Given the description of an element on the screen output the (x, y) to click on. 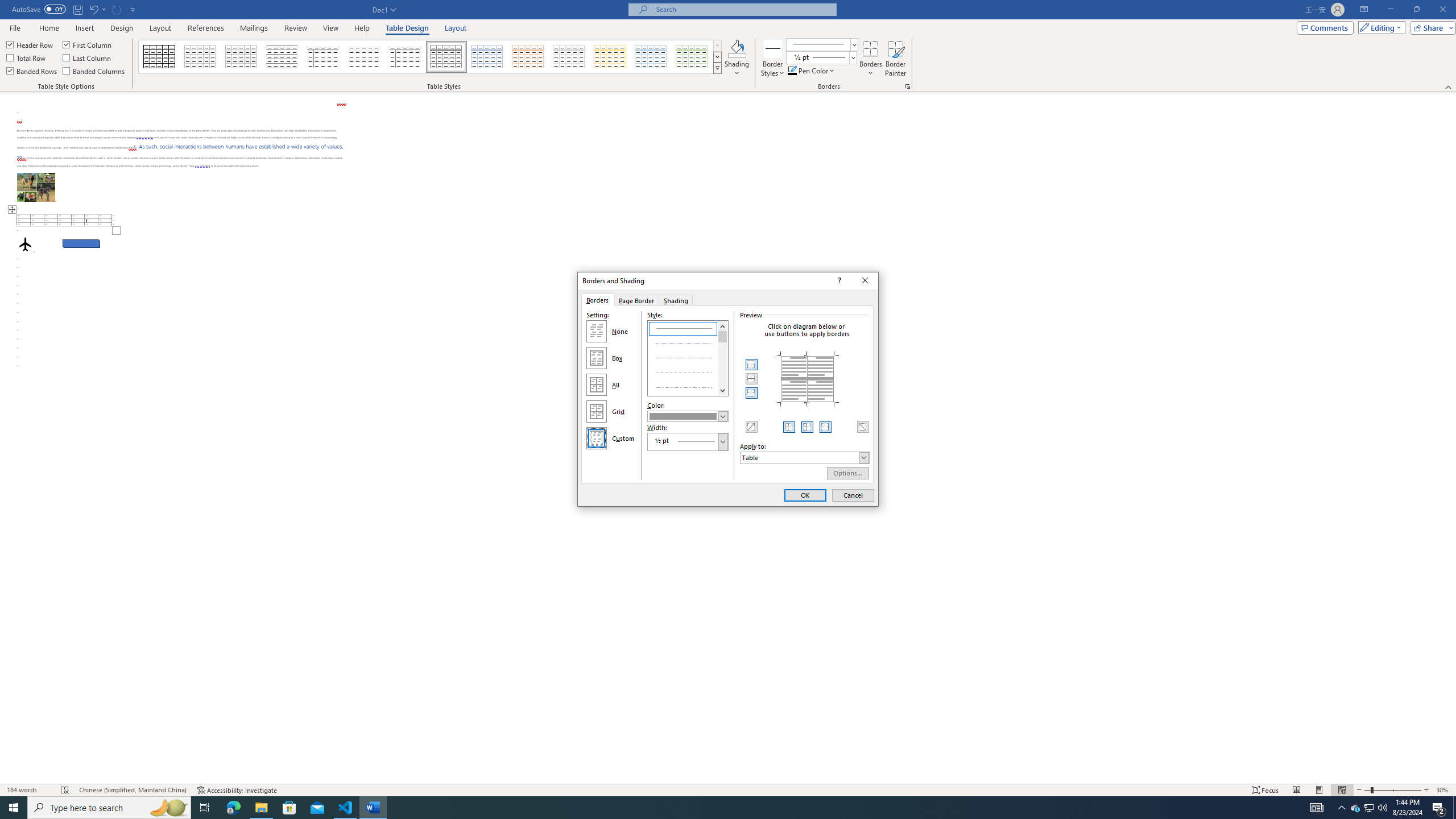
OK (1368, 807)
Grid Table 1 Light - Accent 5 (805, 495)
Word - 1 running window (650, 56)
Grid Table 1 Light - Accent 1 (373, 807)
Microsoft Edge (487, 56)
File Explorer - 1 running window (233, 807)
Show desktop (261, 807)
Plain Table 5 (1454, 807)
